Given the description of an element on the screen output the (x, y) to click on. 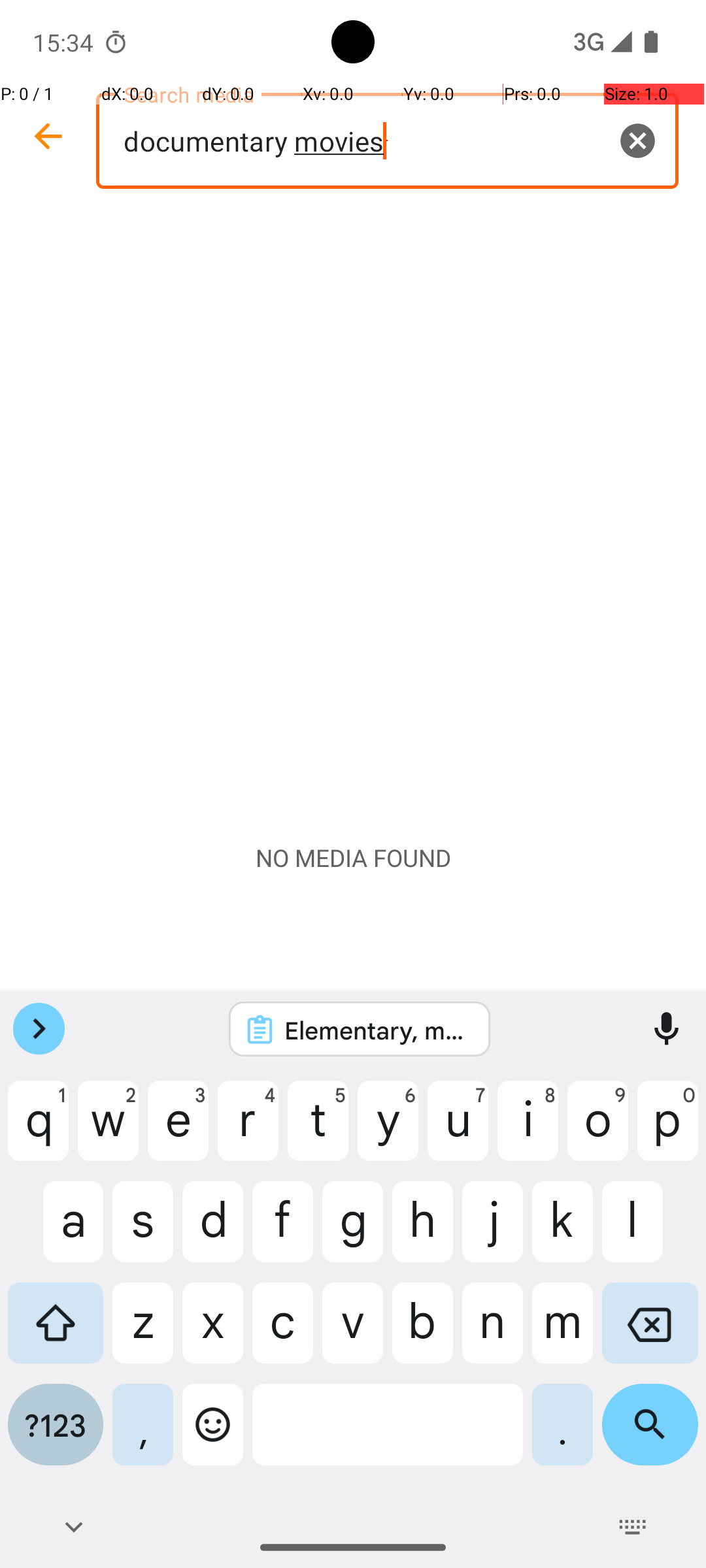
documentary movies Element type: android.widget.EditText (387, 140)
NO MEDIA FOUND Element type: android.widget.TextView (353, 857)
